Given the description of an element on the screen output the (x, y) to click on. 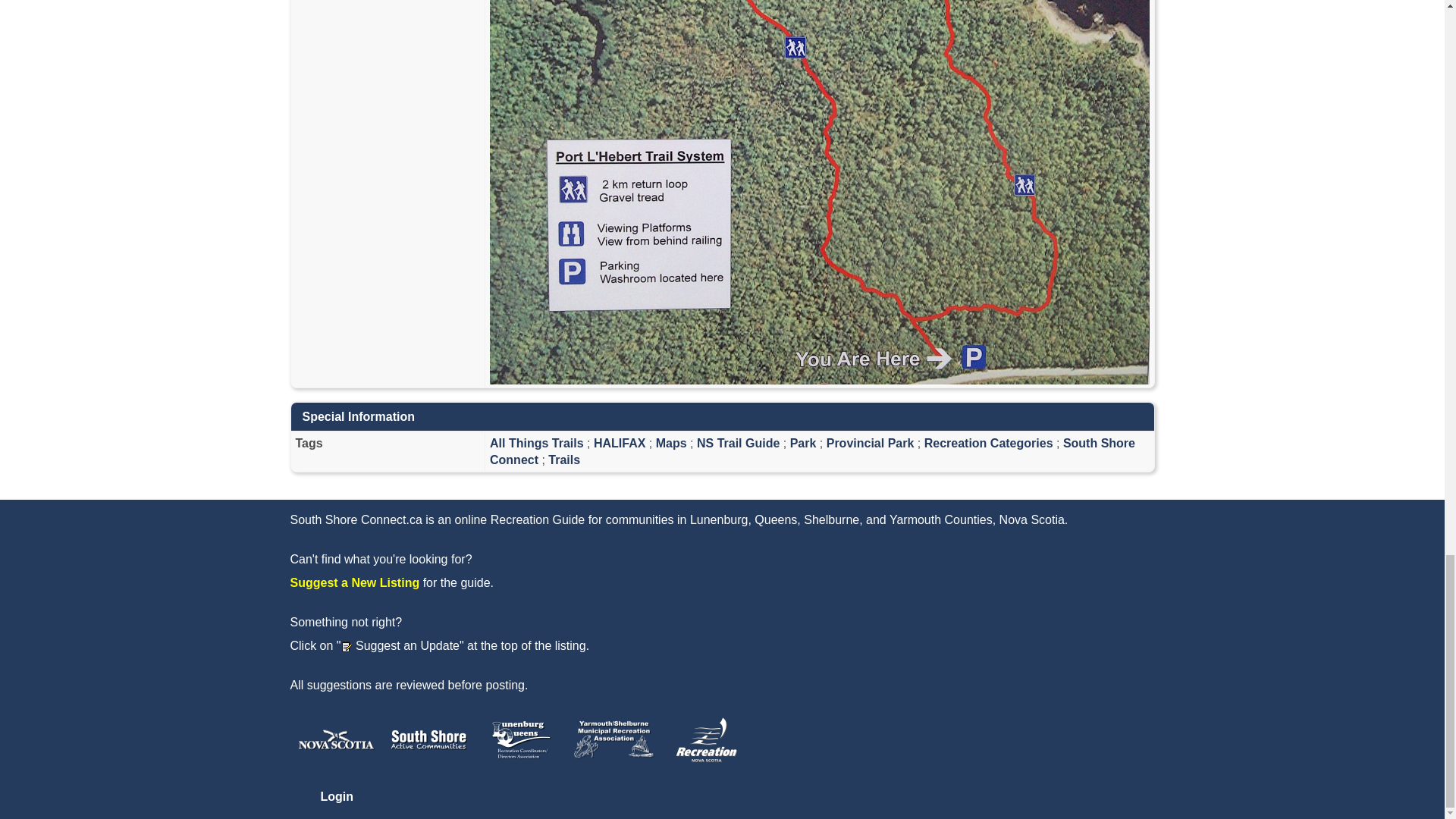
HALIFAX (619, 442)
NS Department of Health and Wellness (335, 739)
Maps (671, 442)
Click map to enlarge  (819, 49)
Trails (563, 459)
NS Trail Guide (737, 442)
All Things Trails (536, 442)
South Shore Active Communities (427, 739)
South Shore Connect (812, 451)
Provincial Park (870, 442)
Yarmouth Shelburne Municipal Recreation Association (613, 739)
Suggest a New Listing (354, 582)
Park (803, 442)
Login (336, 796)
Recreation Categories (988, 442)
